Given the description of an element on the screen output the (x, y) to click on. 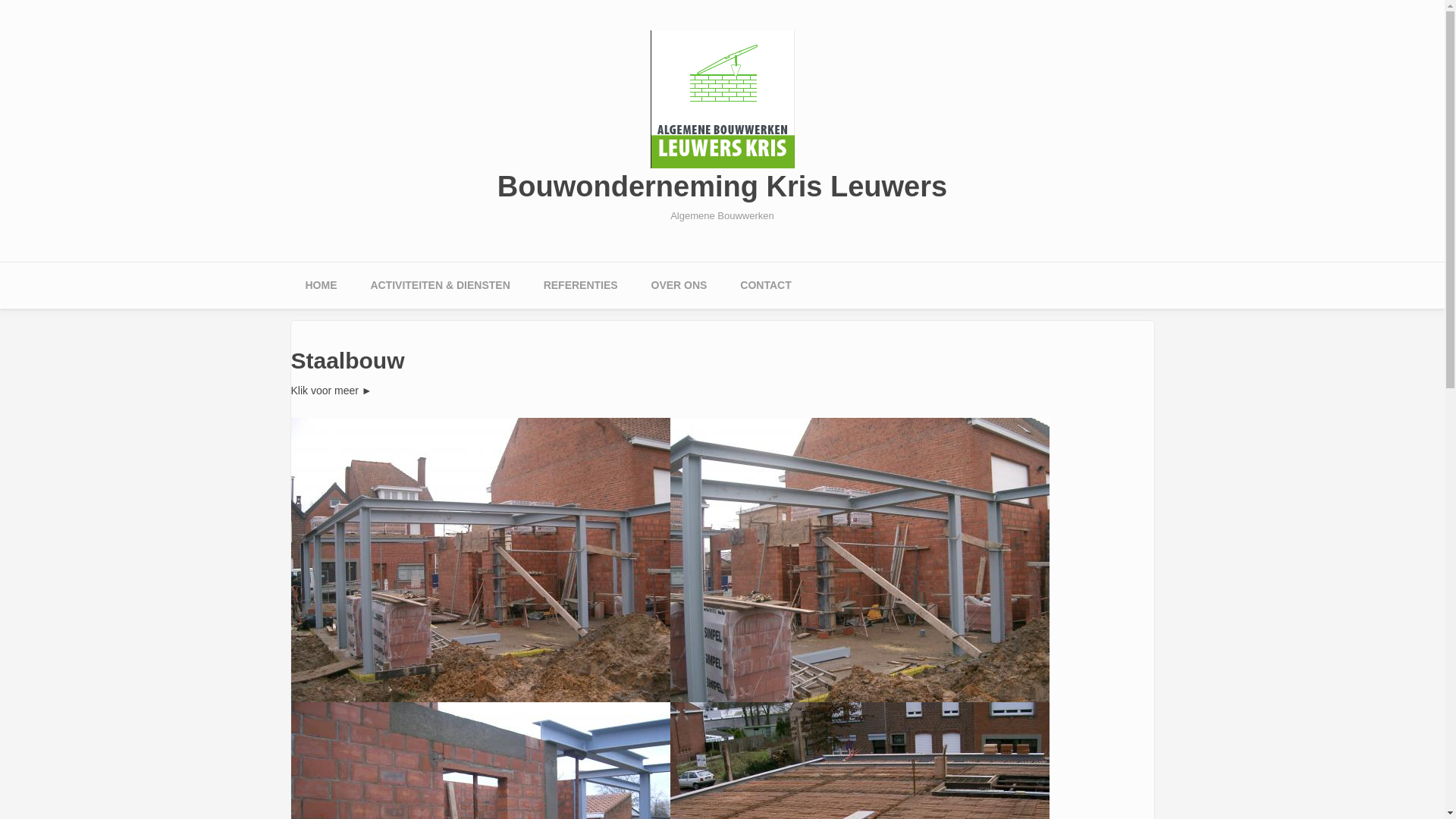
OVER ONS Element type: text (679, 285)
Overslaan en naar de inhoud gaan Element type: text (81, 0)
REFERENTIES Element type: text (580, 285)
Bouwonderneming Kris Leuwers Element type: text (721, 186)
ACTIVITEITEN & DIENSTEN Element type: text (439, 285)
Staalbouw Element type: hover (480, 559)
CONTACT Element type: text (765, 285)
Staalbouw Element type: hover (859, 559)
HOME Element type: text (320, 285)
Home Element type: hover (722, 98)
